Given the description of an element on the screen output the (x, y) to click on. 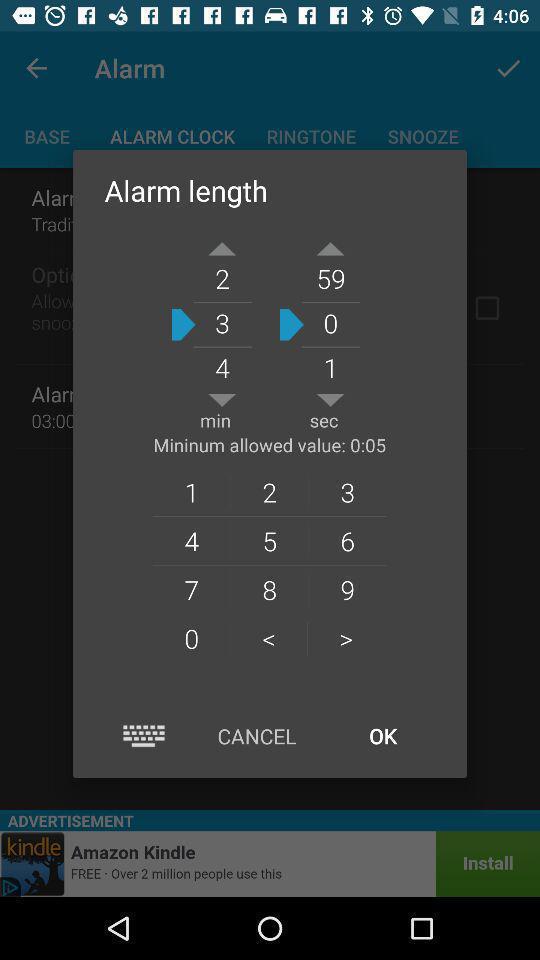
select 6 (347, 540)
